Given the description of an element on the screen output the (x, y) to click on. 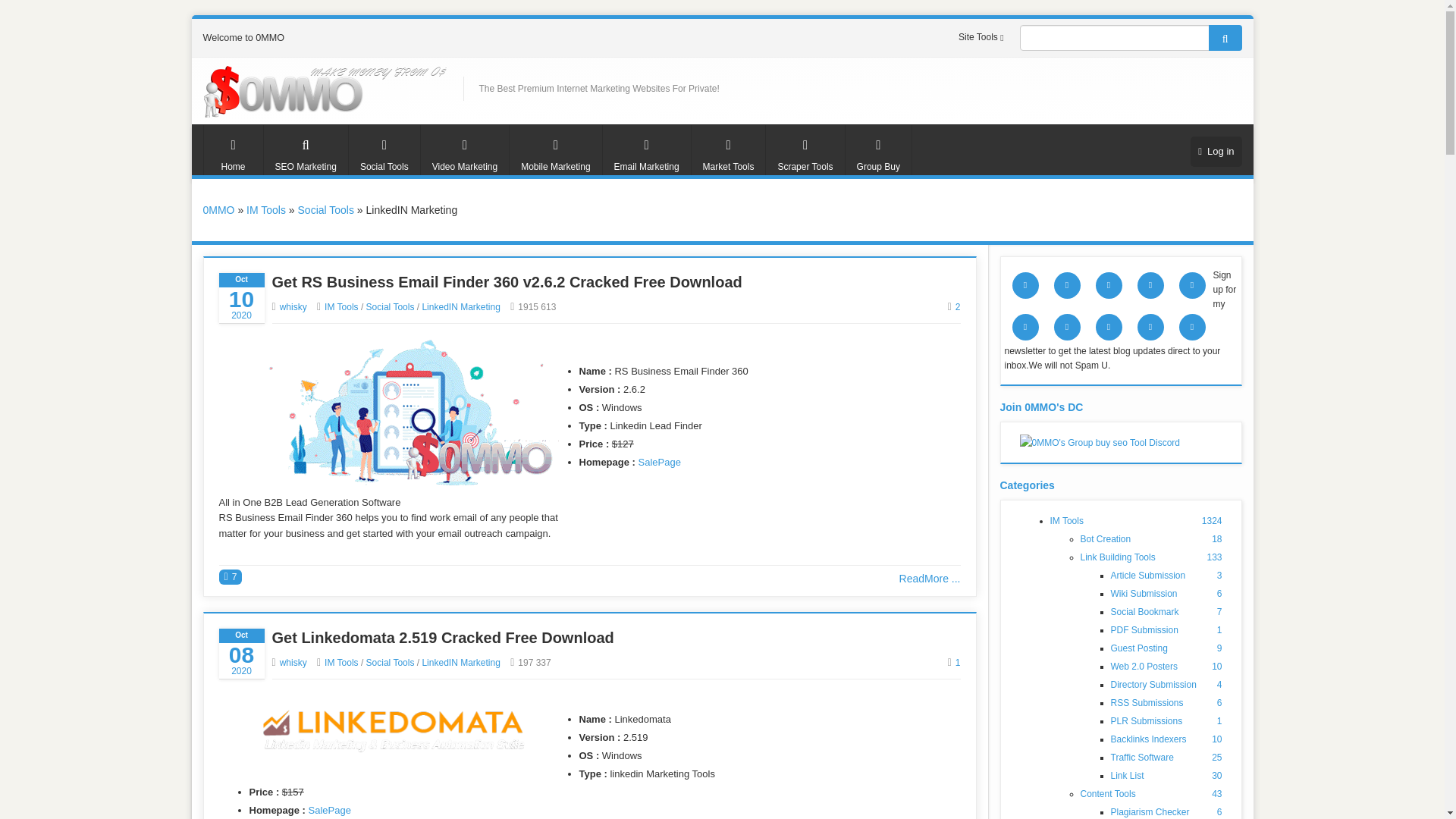
SEO Marketing (304, 150)
Home (233, 150)
Site Tools (983, 36)
